Given the description of an element on the screen output the (x, y) to click on. 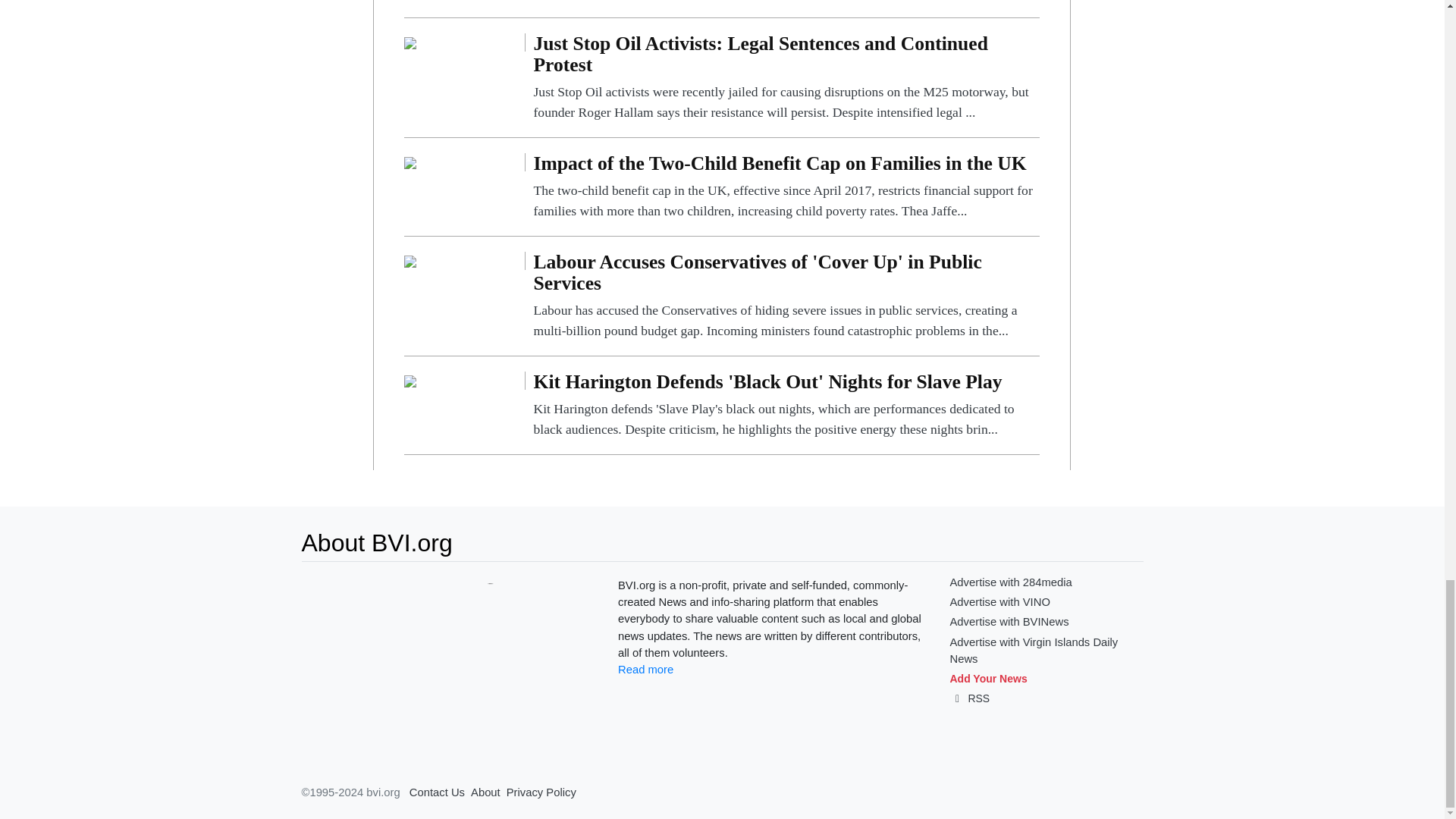
Impact of the Two-Child Benefit Cap on Families in the UK (785, 186)
Impact of the Two-Child Benefit Cap on Families in the UK (410, 161)
